Given the description of an element on the screen output the (x, y) to click on. 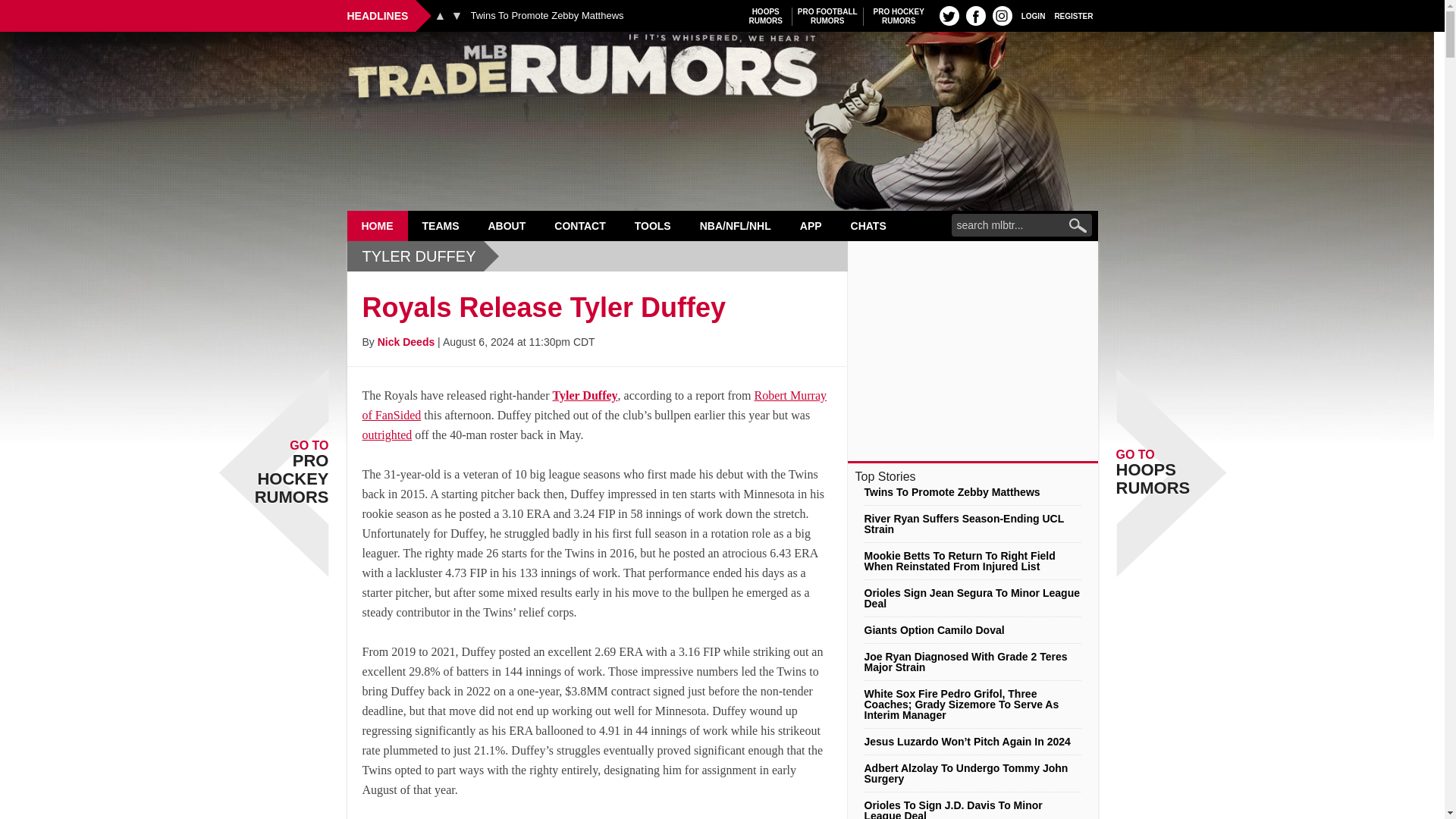
REGISTER (1073, 15)
Instagram profile (1001, 15)
Twitter profile (949, 15)
MLB Trade Rumors (898, 16)
Next (827, 16)
HOME (722, 69)
